Given the description of an element on the screen output the (x, y) to click on. 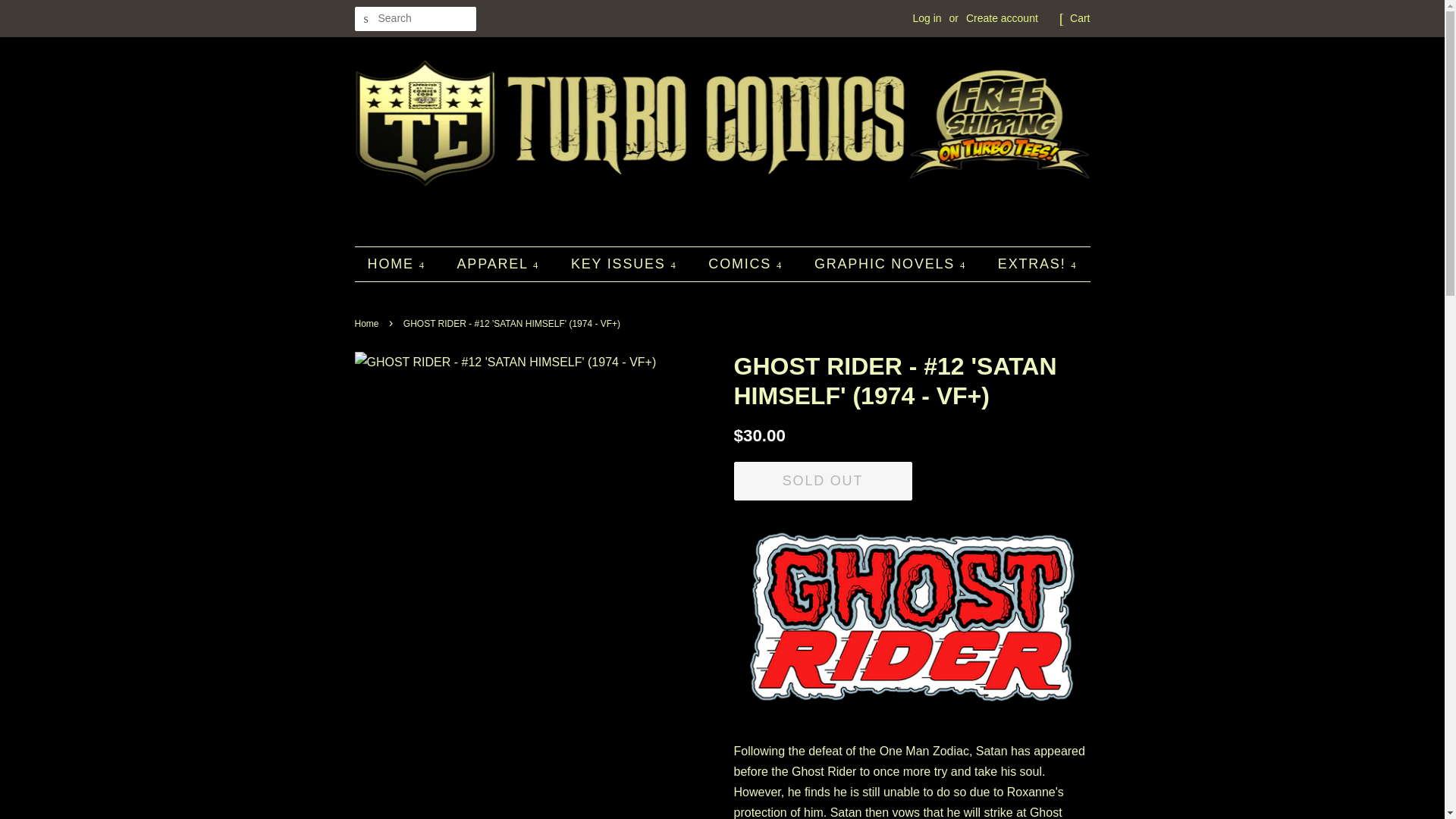
Create account (1002, 18)
Back to the frontpage (368, 323)
Log in (927, 18)
SEARCH (366, 18)
Cart (1079, 18)
